Given the description of an element on the screen output the (x, y) to click on. 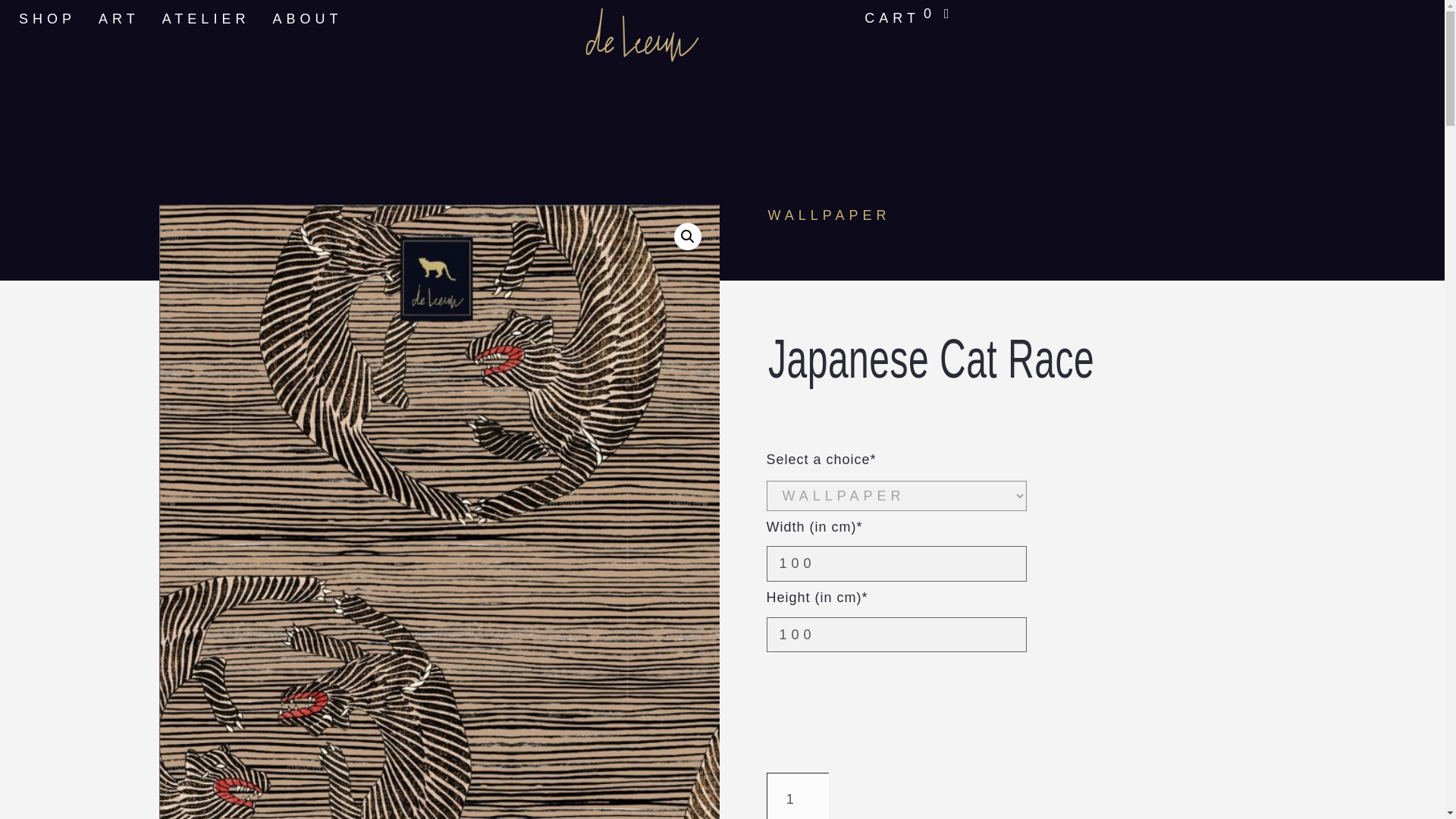
100 (895, 634)
100 (895, 563)
ABOUT (306, 19)
ART (119, 19)
1 (796, 796)
ATELIER (206, 19)
WALLPAPER (828, 215)
SHOP (47, 19)
